Given the description of an element on the screen output the (x, y) to click on. 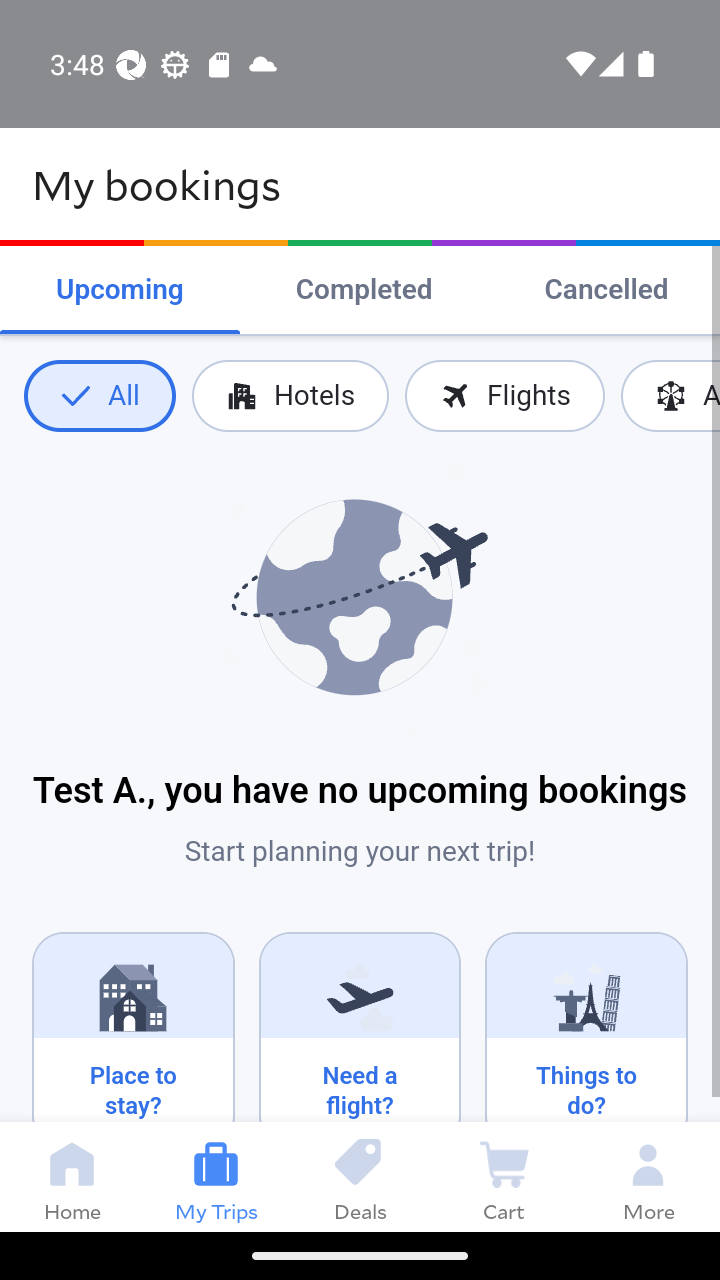
Upcoming (119, 289)
Completed (363, 289)
Cancelled (606, 289)
All (99, 395)
Hotels (290, 395)
Flights (504, 395)
Activities (669, 395)
Home (72, 1176)
My Trips (216, 1176)
Deals (360, 1176)
Cart (504, 1176)
More (648, 1176)
